Given the description of an element on the screen output the (x, y) to click on. 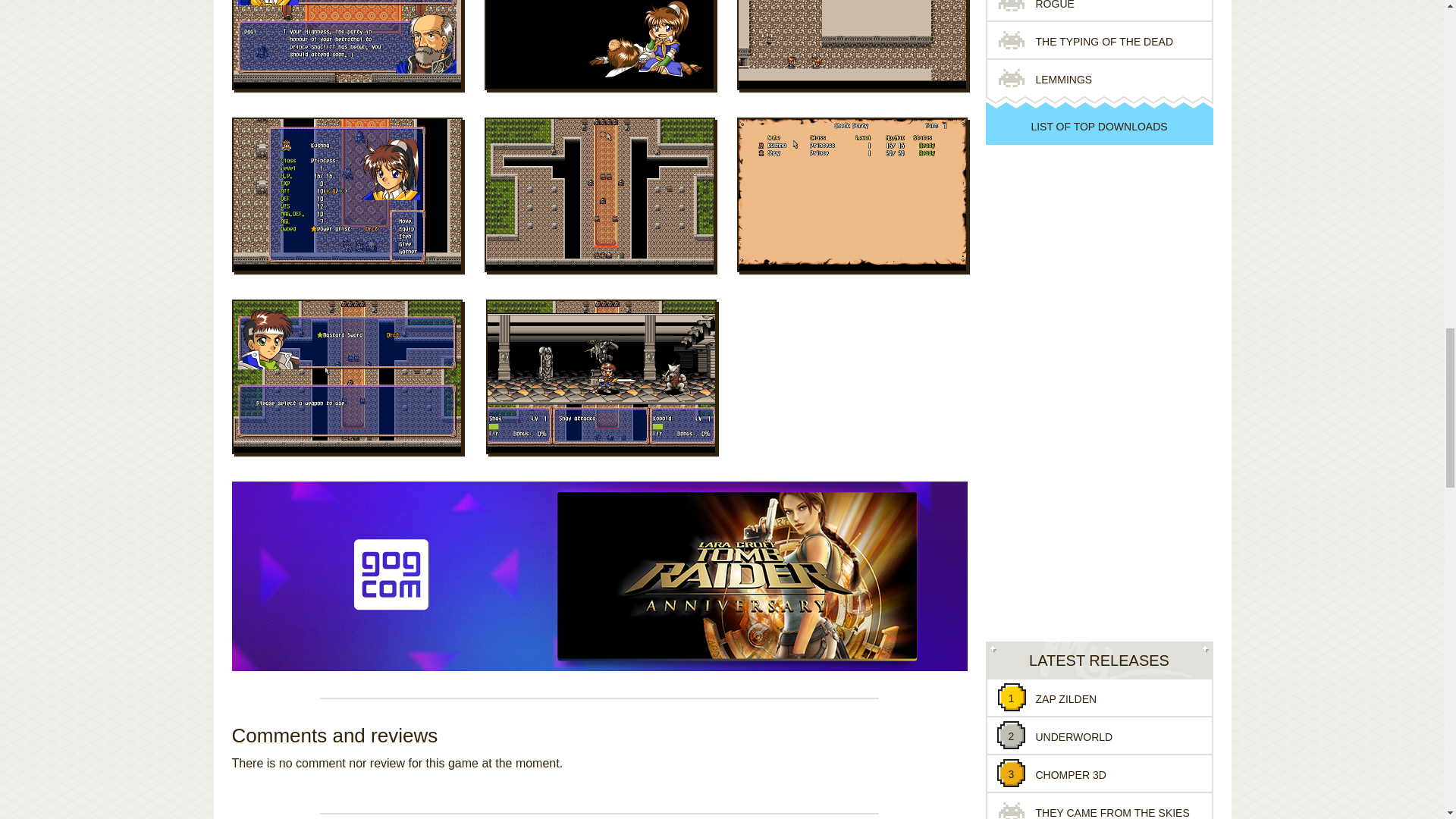
See the Top 40 Games (1098, 126)
